Given the description of an element on the screen output the (x, y) to click on. 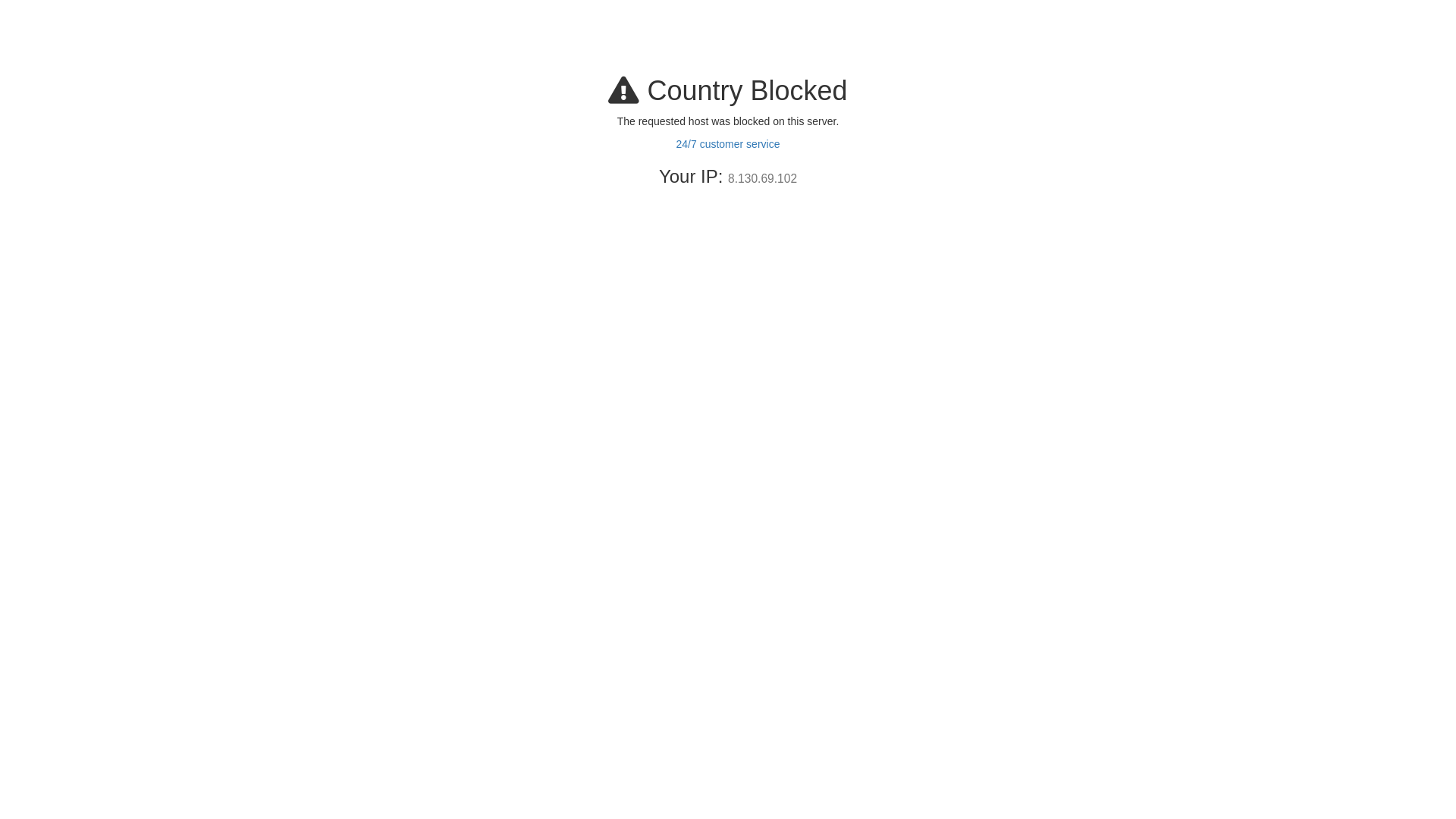
24/7 customer service Element type: text (728, 144)
